Given the description of an element on the screen output the (x, y) to click on. 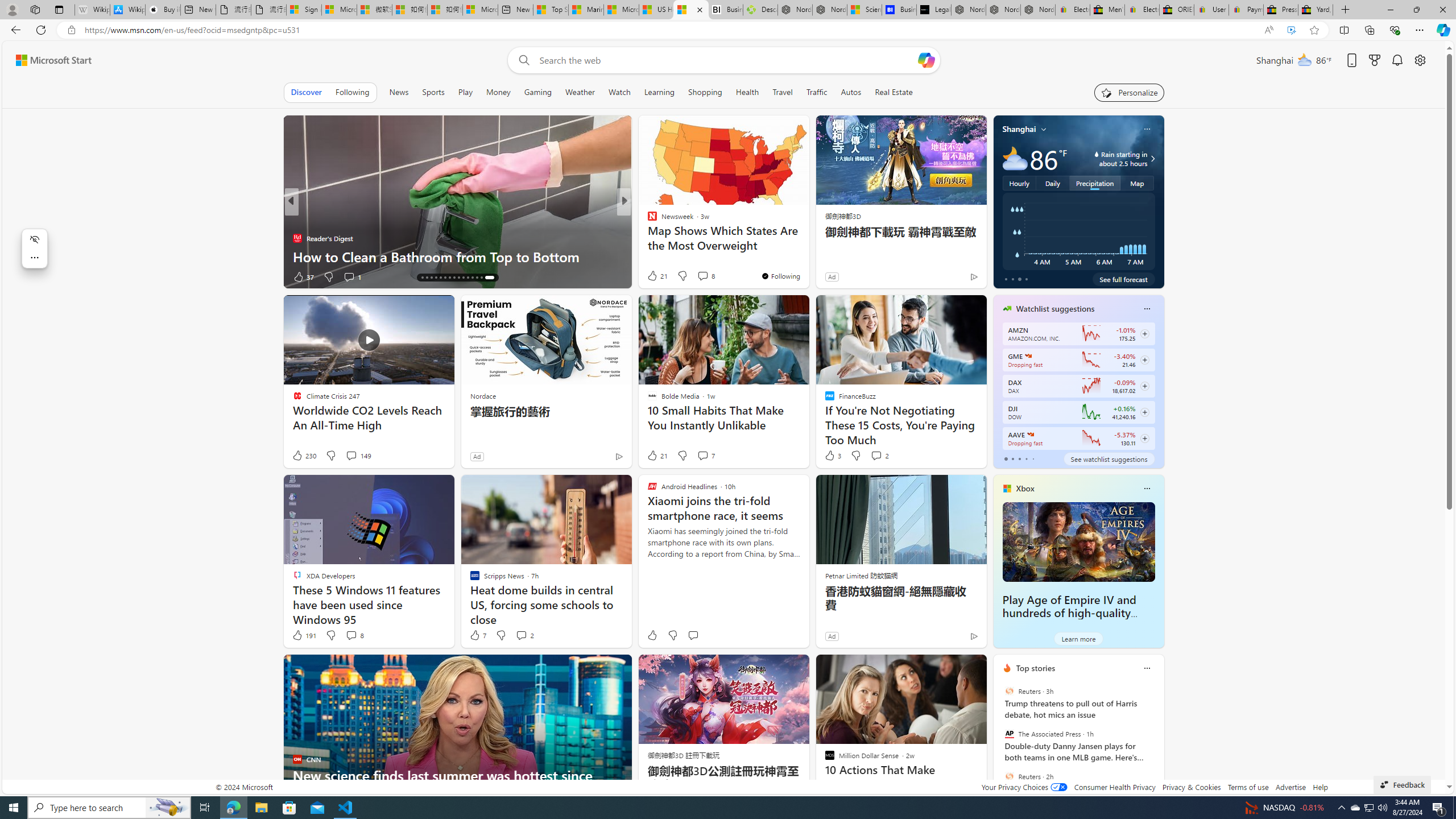
Watchlist suggestions (1055, 308)
7 Like (477, 634)
10 Like (652, 276)
Watch (619, 92)
tab-2 (1019, 458)
How To Fix Bad System Config Info Error In Windows (807, 256)
water-drop-icon (1096, 154)
AutomationID: tab-17 (433, 277)
Real Estate (893, 92)
